Given the description of an element on the screen output the (x, y) to click on. 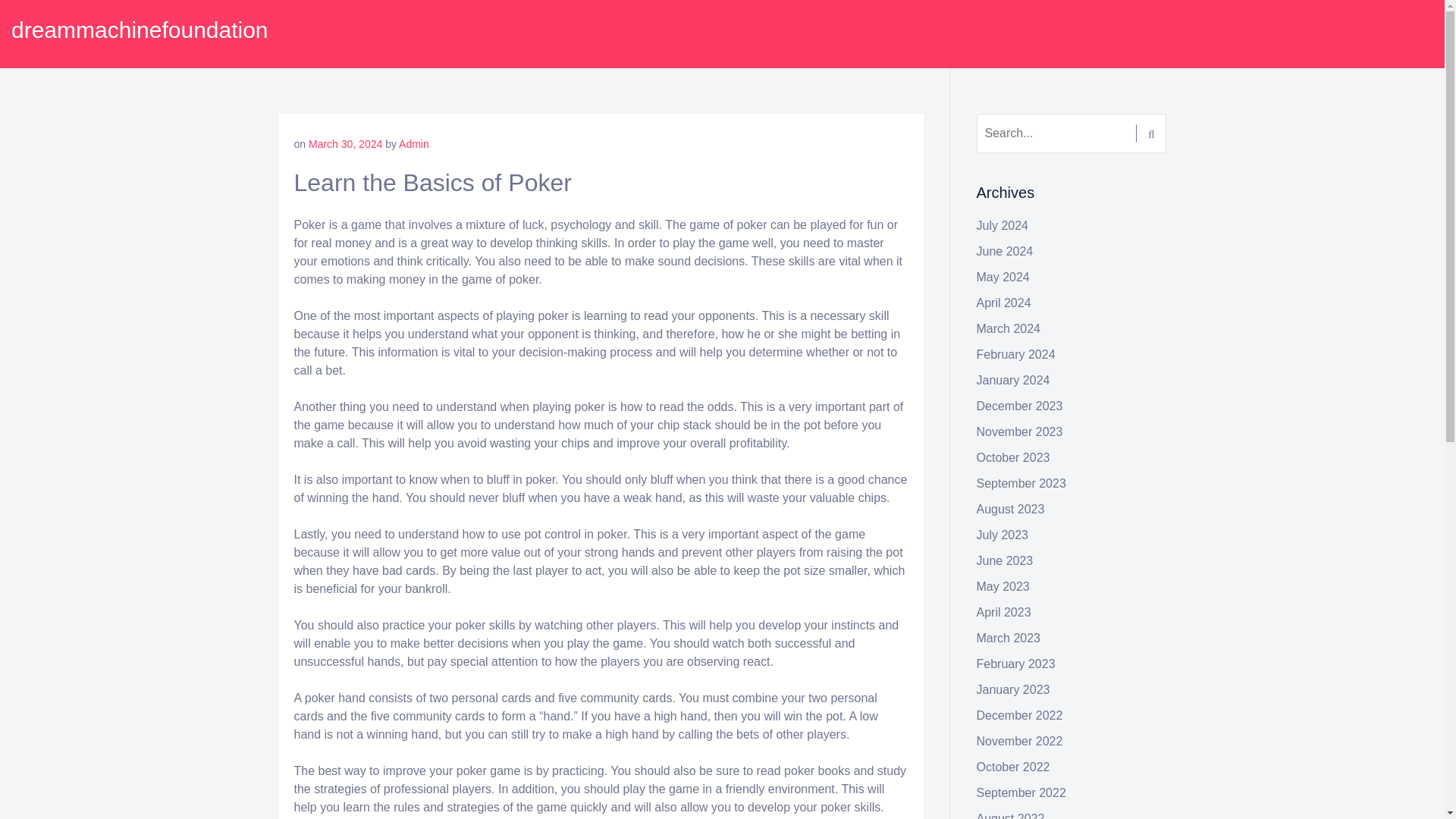
October 2022 (1012, 766)
March 30, 2024 (344, 143)
August 2022 (1010, 815)
June 2023 (1004, 560)
February 2023 (1015, 663)
August 2023 (1010, 508)
April 2024 (1003, 302)
December 2022 (1019, 715)
July 2024 (1002, 225)
Admin (413, 143)
January 2023 (1012, 689)
October 2023 (1012, 457)
June 2024 (1004, 250)
December 2023 (1019, 405)
November 2022 (1019, 740)
